Given the description of an element on the screen output the (x, y) to click on. 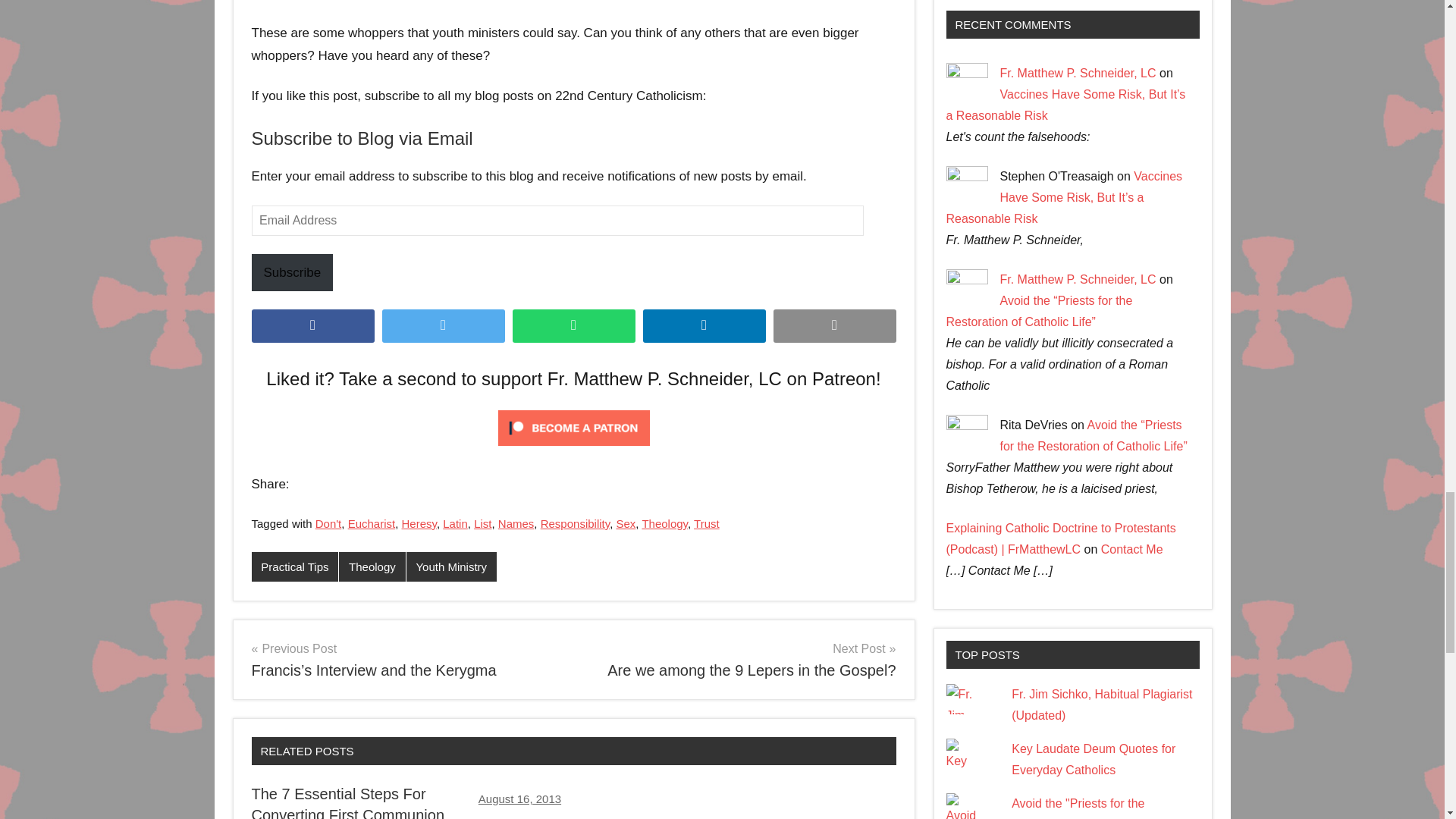
Subscribe (292, 272)
Twitter (443, 326)
WhatsApp (573, 326)
2:34 pm (519, 798)
LinkedIn (704, 326)
Facebook (312, 326)
Email (834, 326)
